Given the description of an element on the screen output the (x, y) to click on. 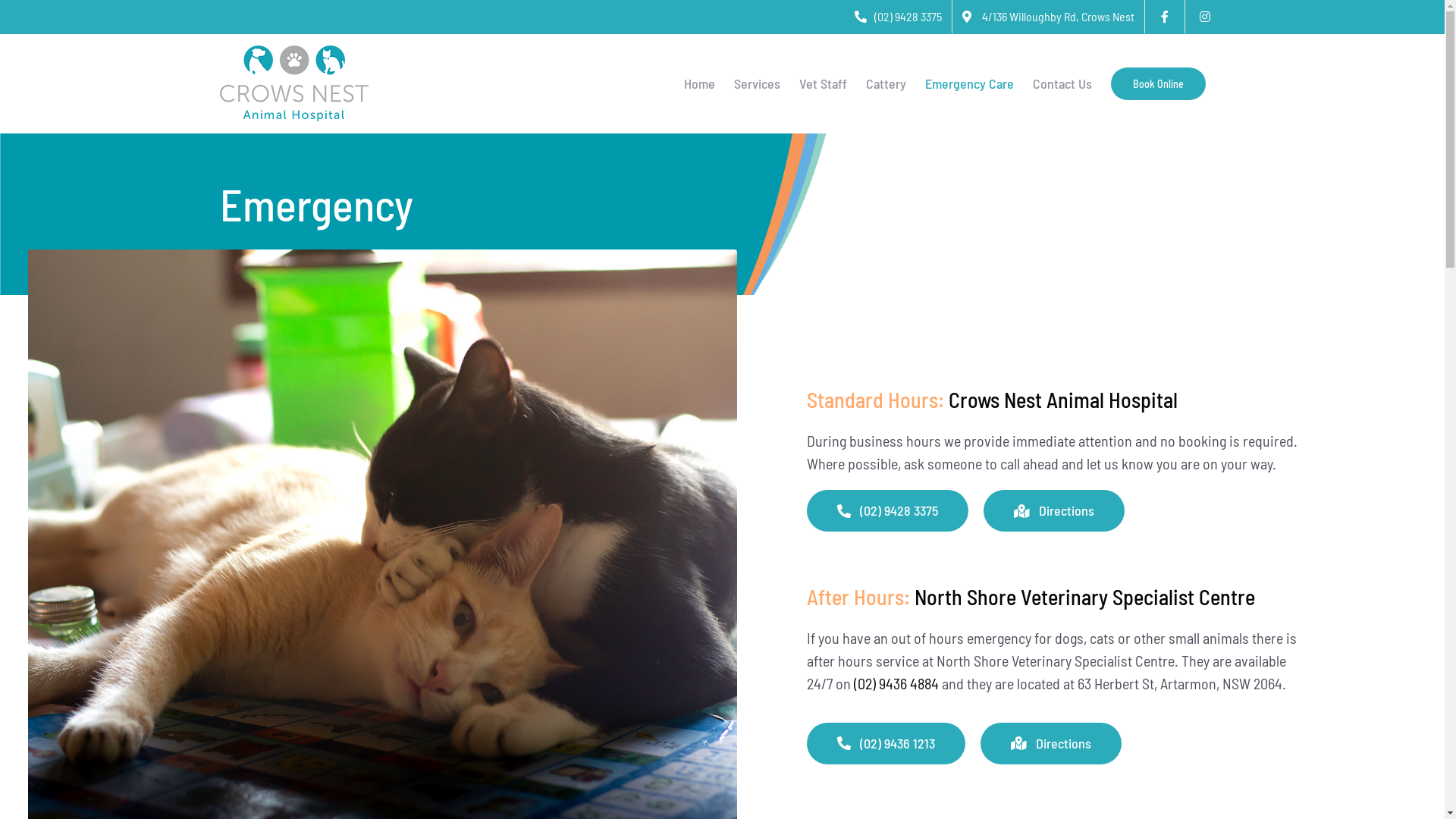
(02) 9428 3375 Element type: text (887, 510)
4/136 Willoughby Rd, Crows Nest Element type: text (1048, 16)
(02) 9428 3375 Element type: text (897, 16)
Directions Element type: text (1050, 743)
(02) 9436 1213 Element type: text (886, 743)
(02) 9436 4884 Element type: text (895, 683)
Contact Us Element type: text (1062, 83)
Book Online Element type: text (1157, 83)
Cattery Element type: text (886, 83)
Vet Staff Element type: text (823, 83)
Directions Element type: text (1053, 510)
Services Element type: text (757, 83)
Emergency Care Element type: text (969, 83)
Home Element type: text (699, 83)
